Given the description of an element on the screen output the (x, y) to click on. 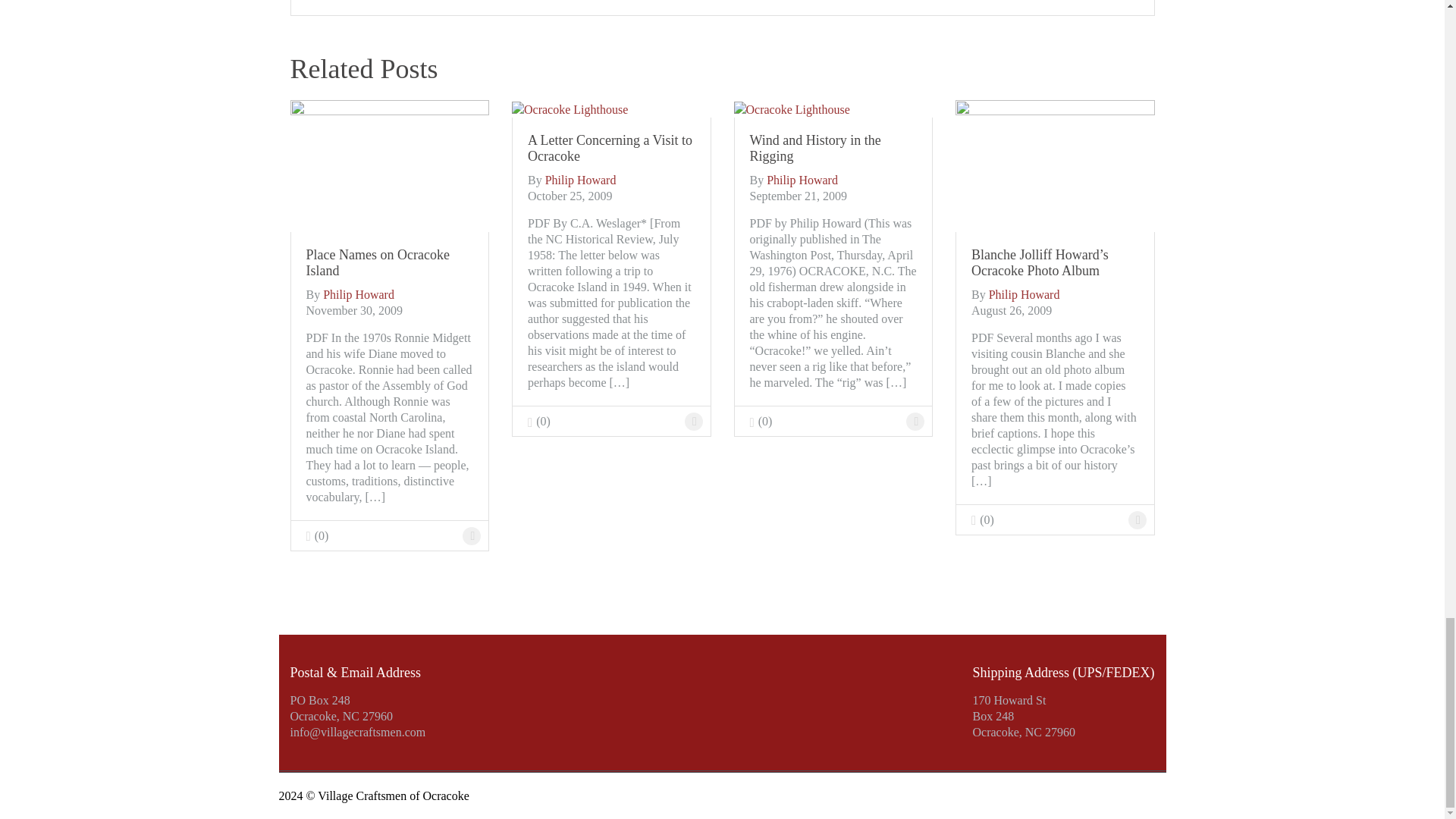
Philip Howard (802, 179)
Wind and History in the Rigging (832, 148)
Click to learn more (569, 107)
Place Names on Ocracoke Island (390, 263)
Philip Howard (358, 294)
Click to learn more (389, 164)
Philip Howard (579, 179)
Click to learn more (692, 421)
Click to learn more (390, 263)
A Letter Concerning a Visit to Ocracoke (611, 148)
